Given the description of an element on the screen output the (x, y) to click on. 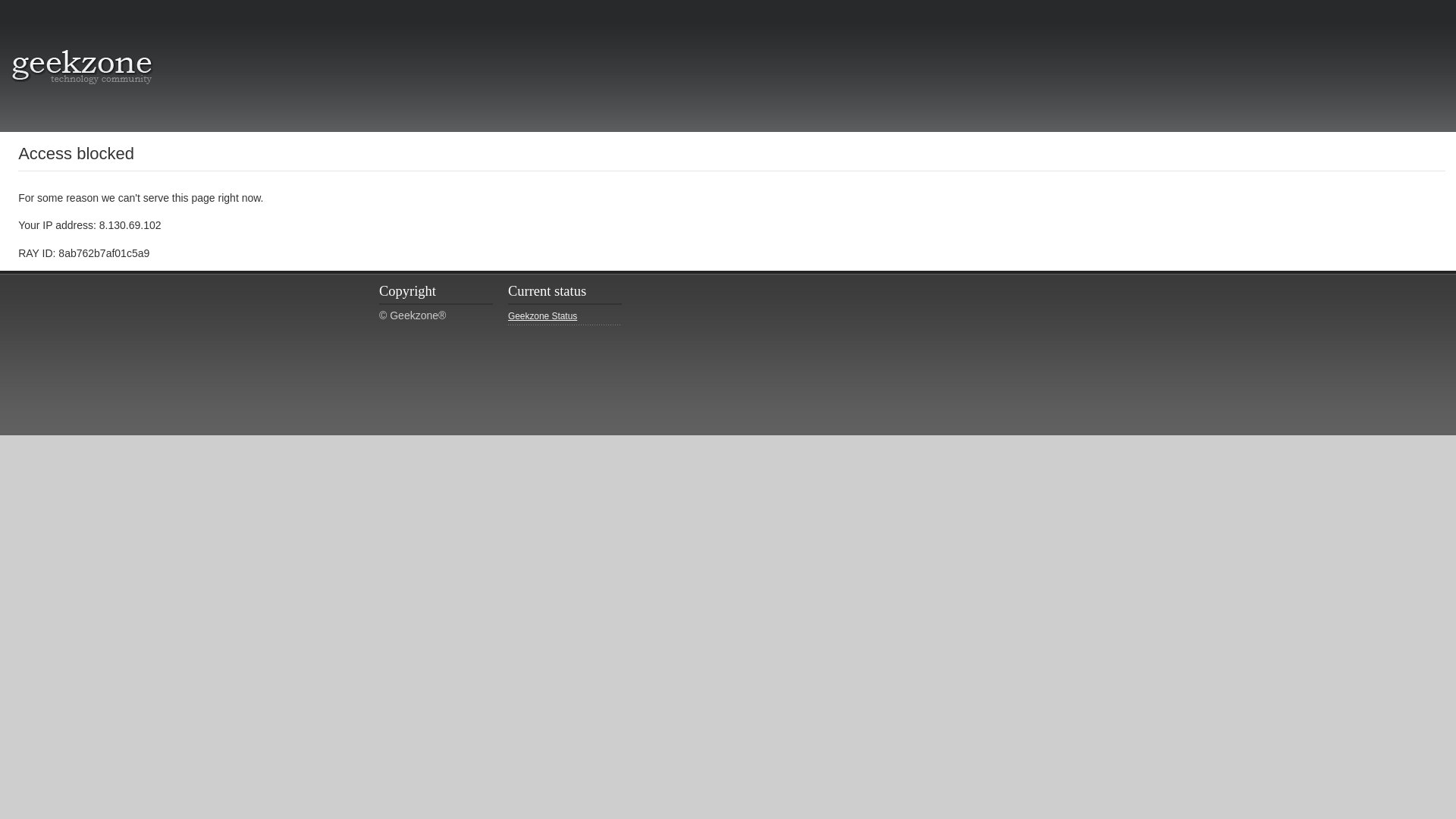
Geekzone Status (564, 316)
